Given the description of an element on the screen output the (x, y) to click on. 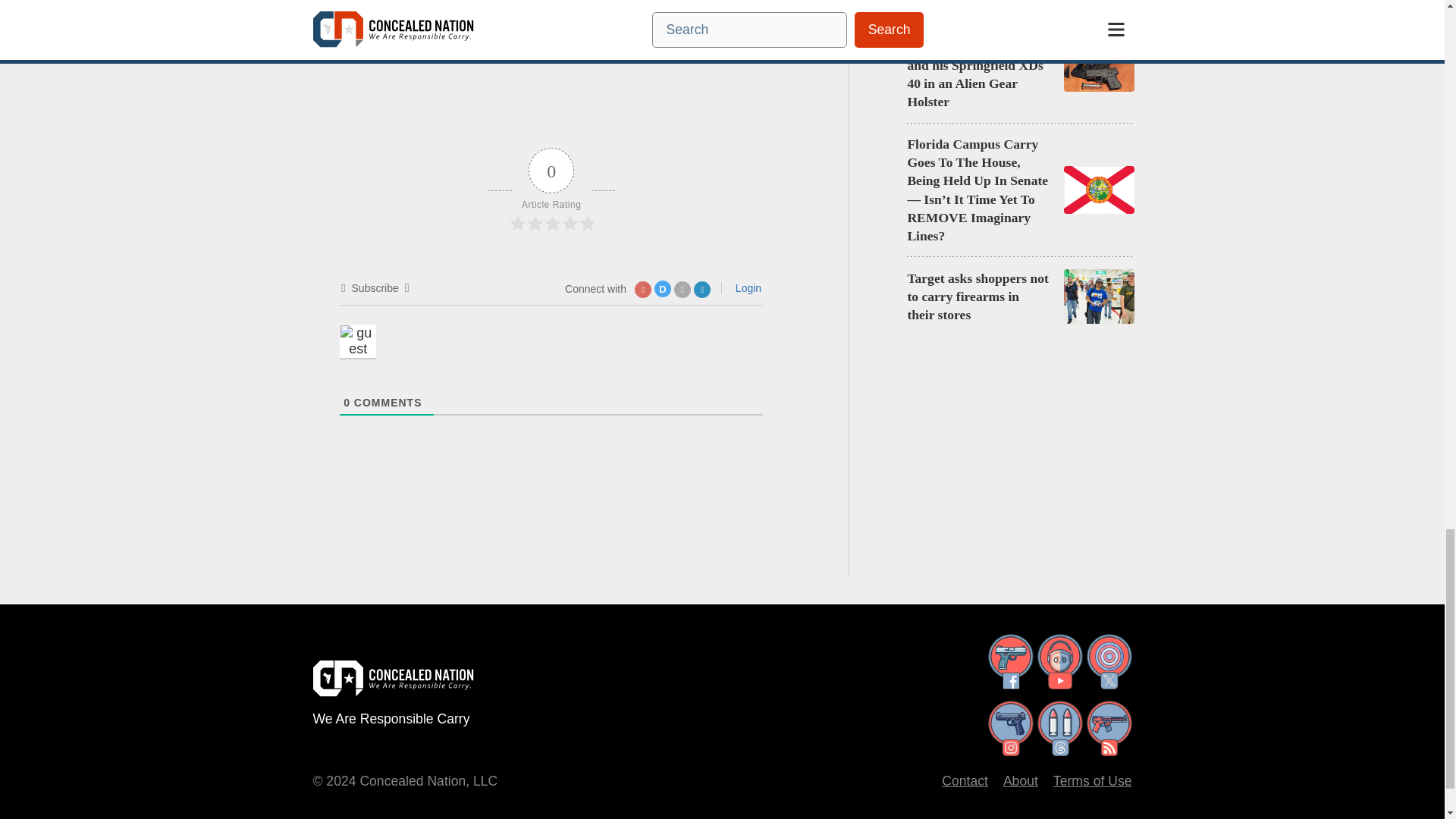
Login (745, 287)
